Given the description of an element on the screen output the (x, y) to click on. 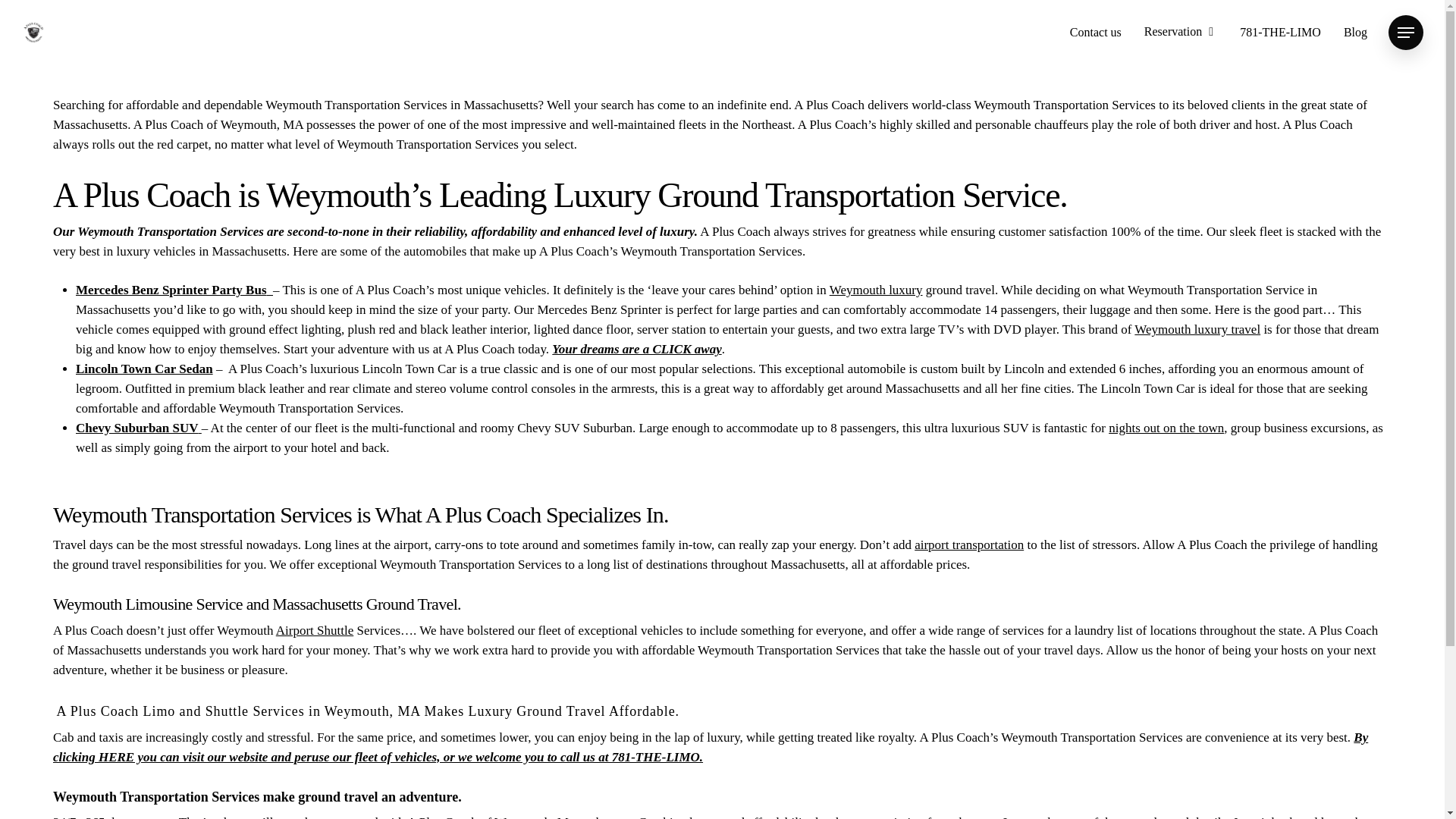
Blog (1355, 32)
Menu (1406, 32)
Contact us (1095, 32)
Chevy Suburban SUV  (138, 427)
Your dreams are a CLICK away (635, 349)
Airport Shuttle (314, 630)
nights out on the town (1166, 427)
Lincoln Town Car Sedan (143, 368)
Reservation (1180, 31)
781-THE-LIMO (1280, 32)
Weymouth luxury (876, 289)
Weymouth luxury travel (1197, 329)
airport transportation (968, 544)
Mercedes Benz Sprinter Party Bus   (174, 289)
